Given the description of an element on the screen output the (x, y) to click on. 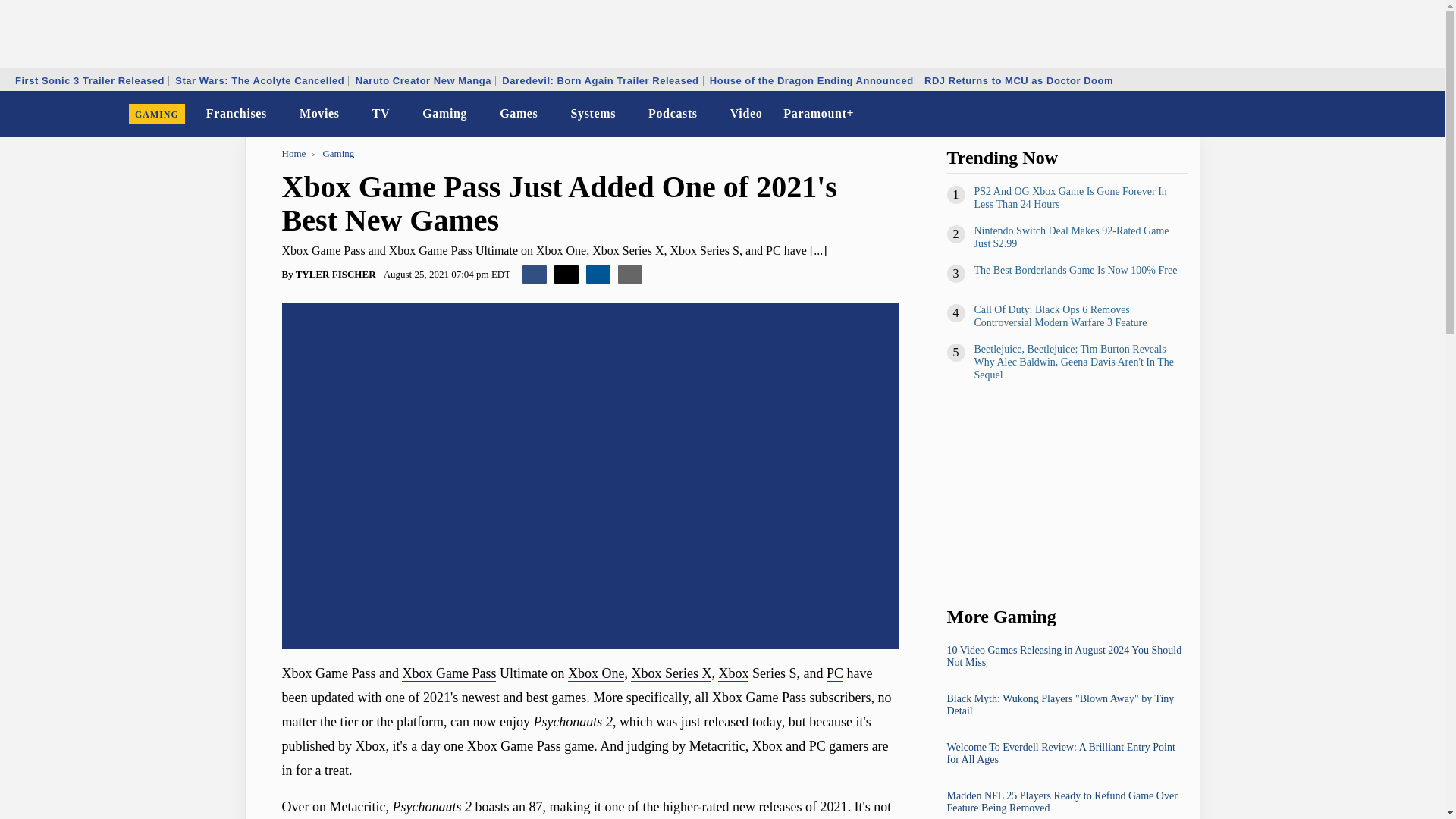
First Sonic 3 Trailer Released (89, 80)
Naruto Creator New Manga (423, 80)
House of the Dragon Ending Announced (811, 80)
RDJ Returns to MCU as Doctor Doom (1018, 80)
Search (1422, 114)
GAMING (157, 113)
Gaming (444, 113)
Movies (320, 113)
Star Wars: The Acolyte Cancelled (259, 80)
Dark Mode (1394, 113)
